Given the description of an element on the screen output the (x, y) to click on. 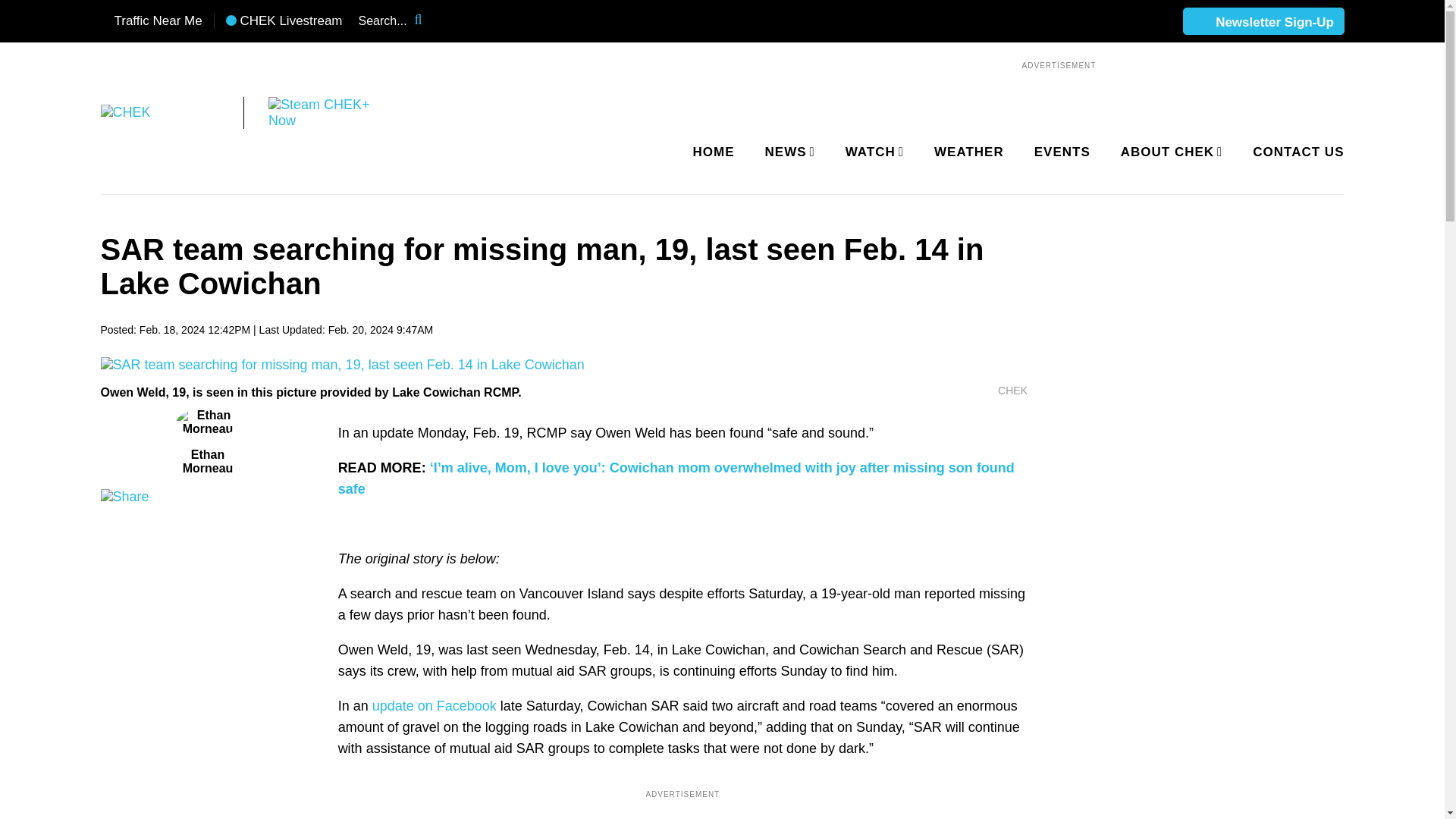
CHEK Livestream (283, 20)
Traffic Near Me (151, 20)
Newsletter Sign-Up (1262, 22)
HOME (714, 152)
Search (428, 21)
NEWS (787, 152)
